Given the description of an element on the screen output the (x, y) to click on. 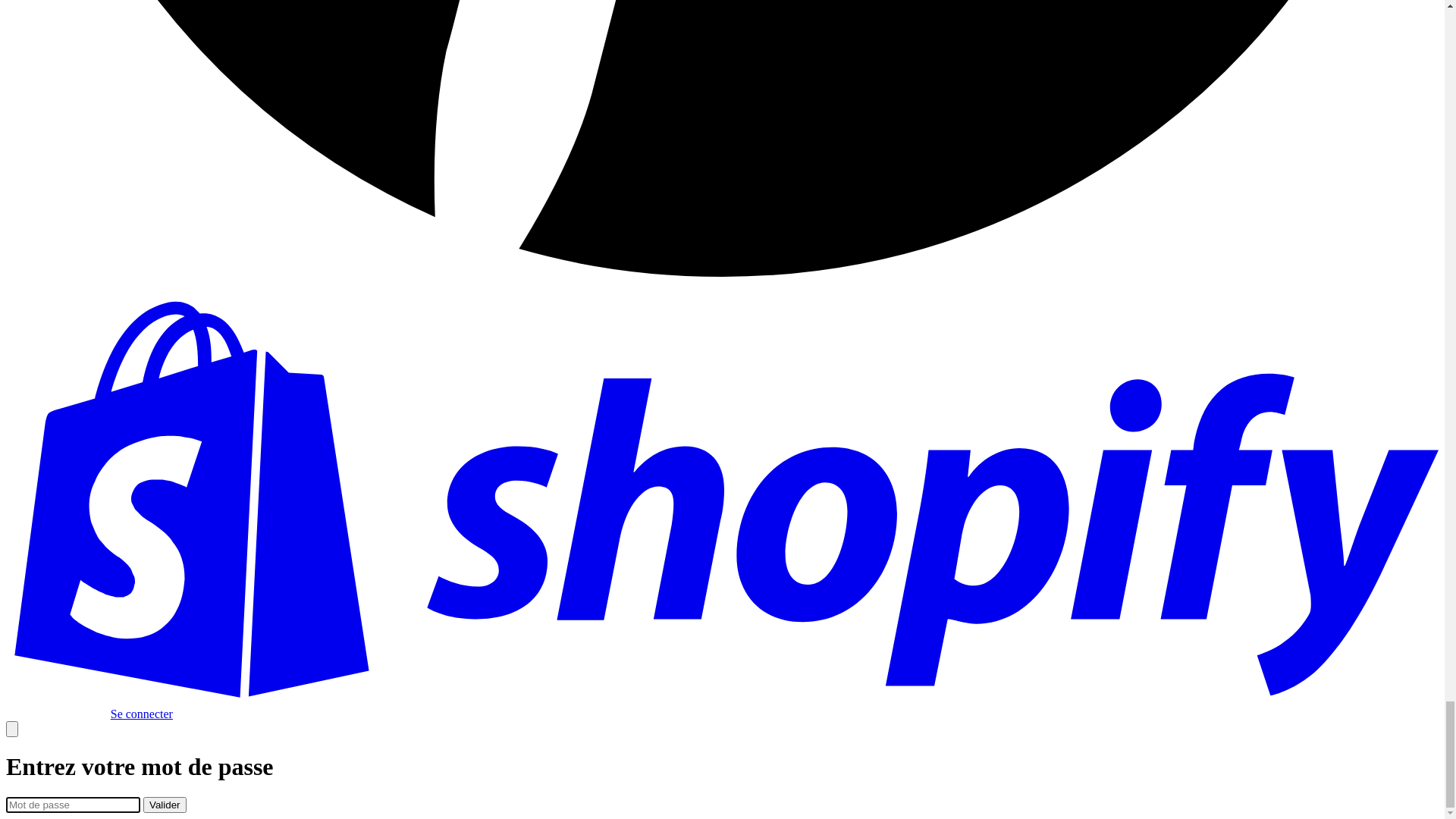
Me notifier Element type: text (172, 290)
Entrez votre mot de passe Element type: text (178, 75)
